Given the description of an element on the screen output the (x, y) to click on. 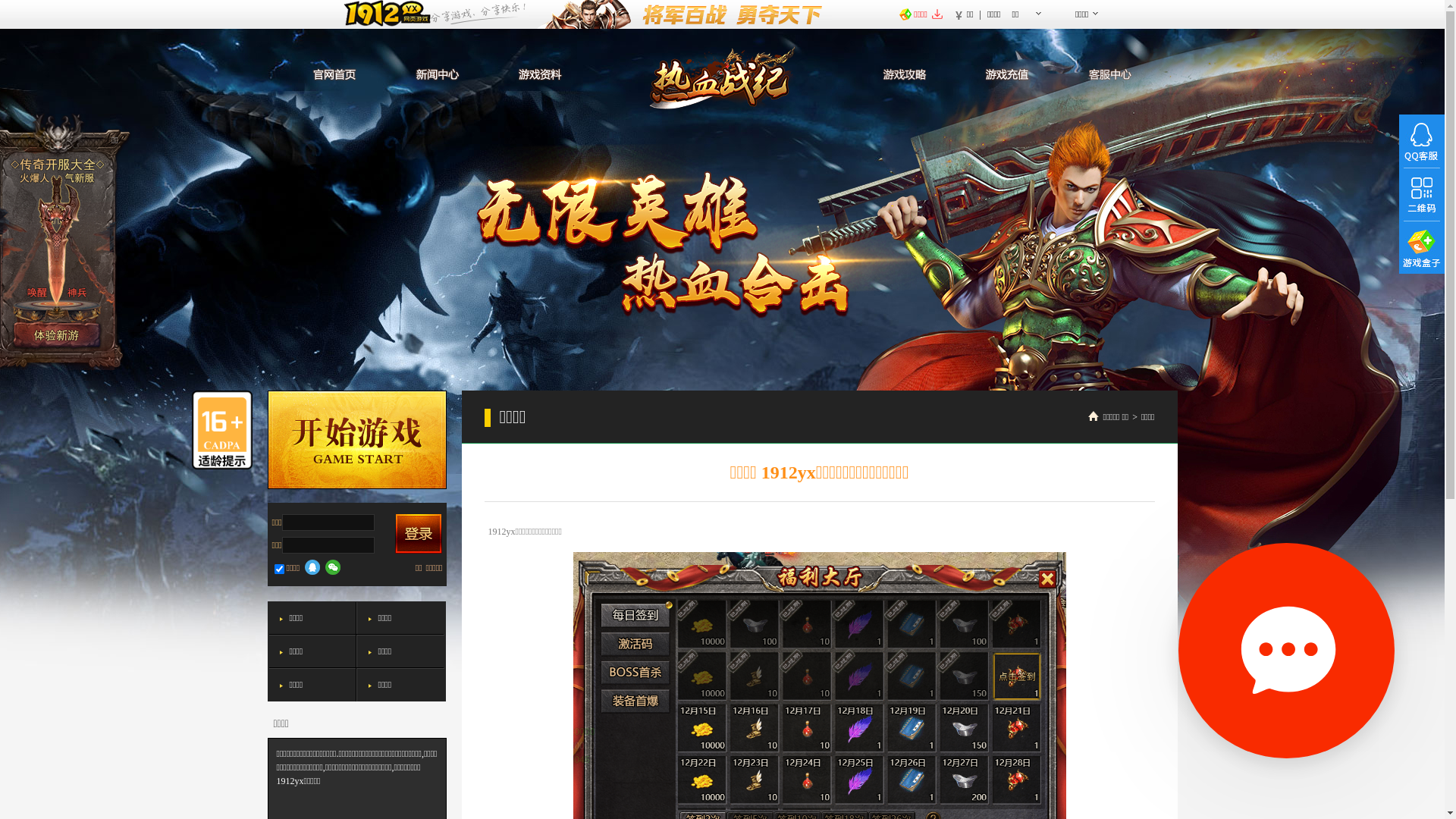
QQ Element type: hover (312, 566)
